Given the description of an element on the screen output the (x, y) to click on. 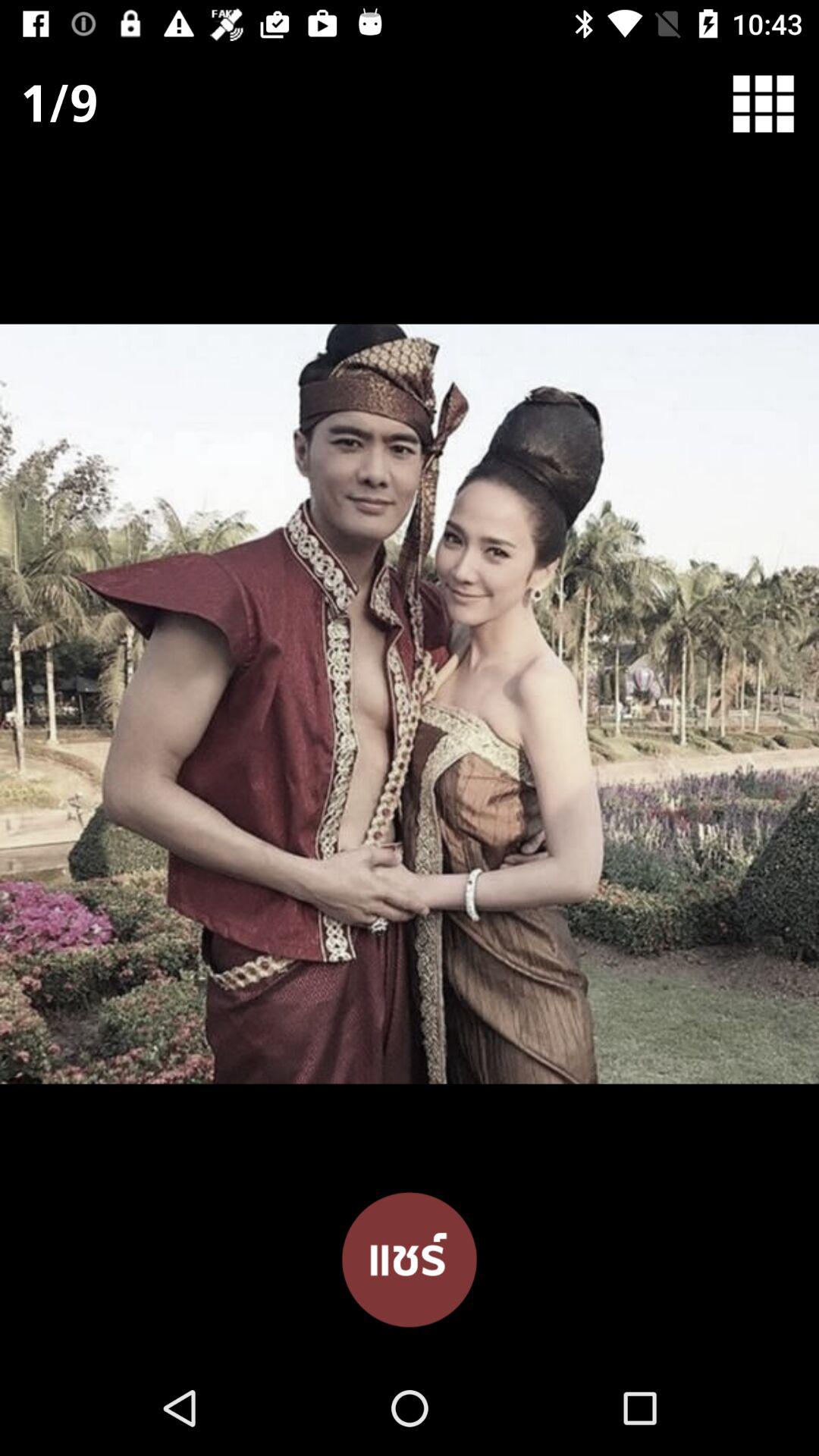
menu (773, 103)
